Given the description of an element on the screen output the (x, y) to click on. 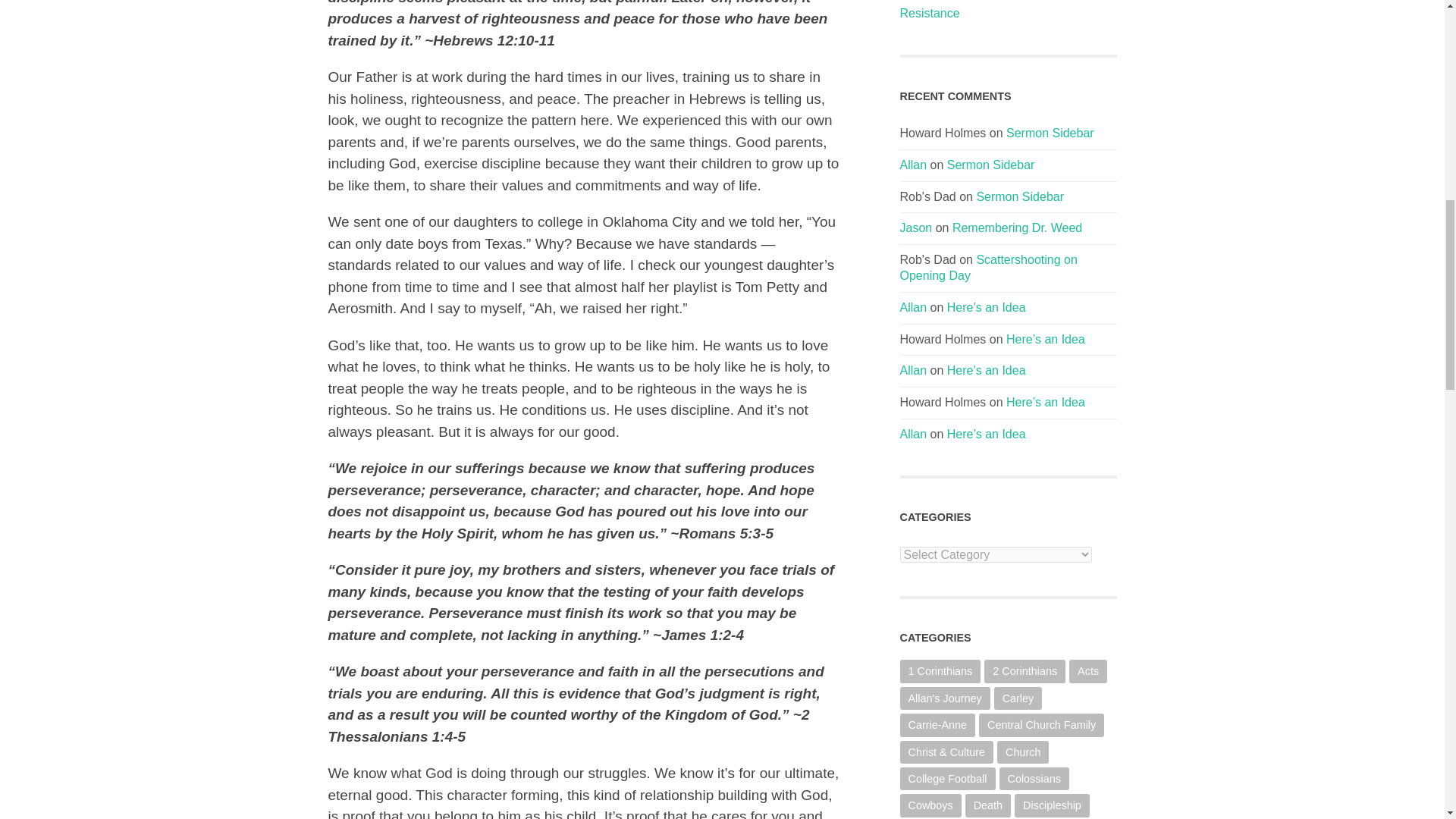
Scattershooting on Opening Day (988, 267)
Remembering Dr. Weed (1016, 227)
Allan (912, 307)
Sermon Sidebar (1019, 196)
Allan (912, 164)
Jason (915, 227)
Sermon Sidebar (991, 164)
Sermon Sidebar (1050, 132)
Resistance (1007, 13)
